Given the description of an element on the screen output the (x, y) to click on. 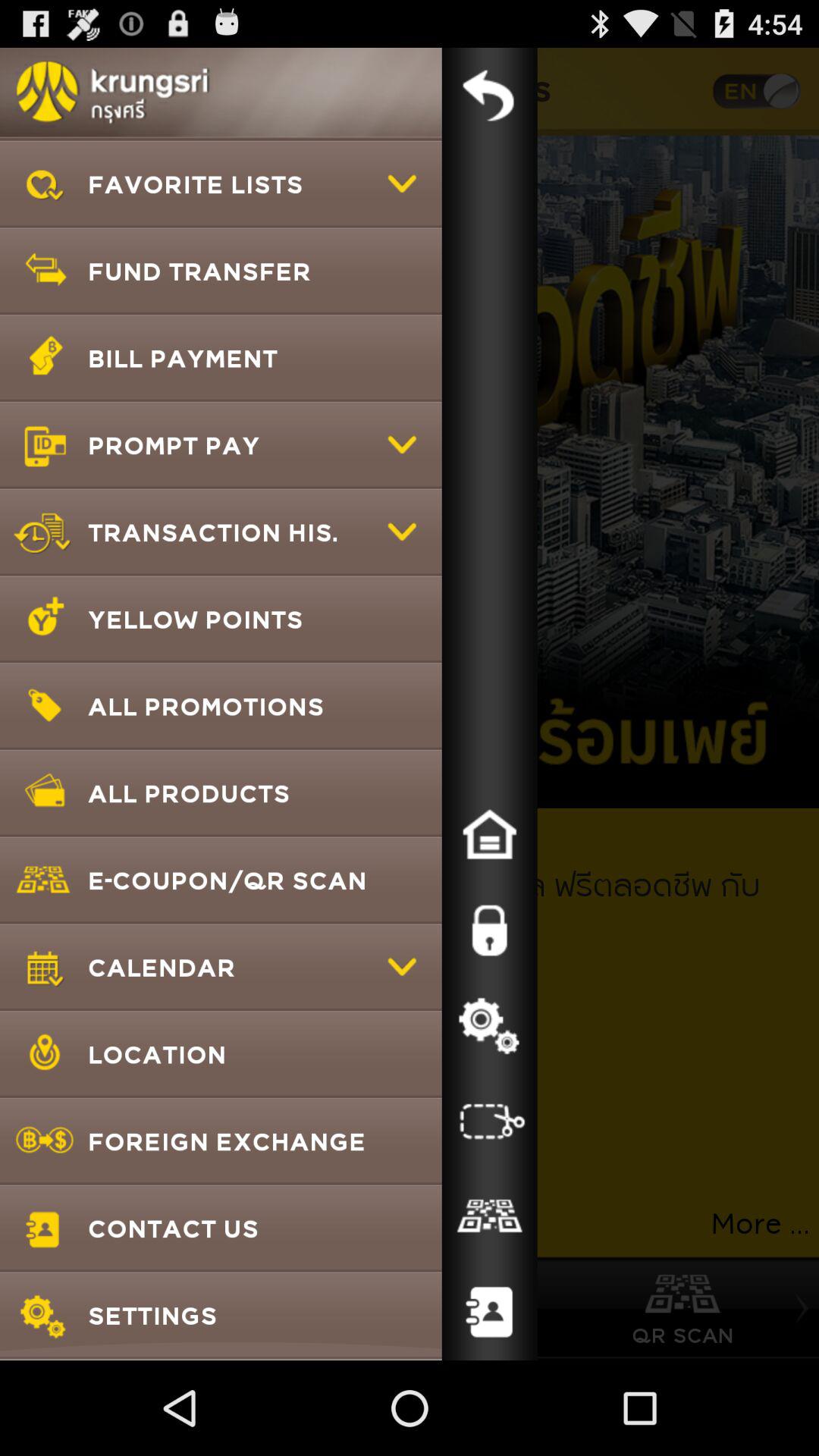
choose the item to the right of the e coupon qr (489, 930)
